Given the description of an element on the screen output the (x, y) to click on. 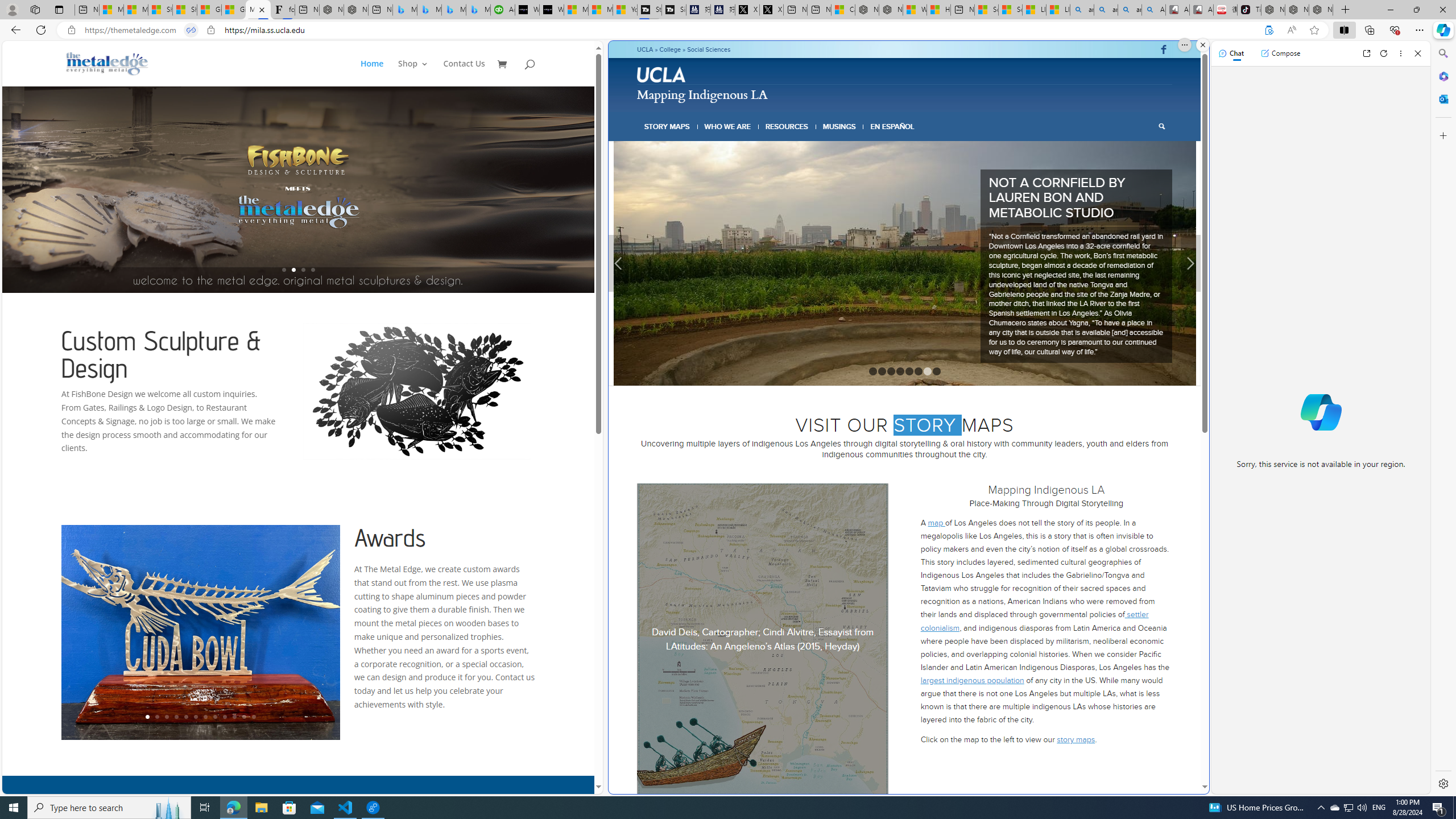
Social Sciences (708, 49)
UCLA logo (662, 76)
Shop 3 (413, 72)
map  (935, 472)
largest indigenous population (972, 629)
3 (890, 320)
RESOURCES (786, 126)
Home (377, 72)
